Given the description of an element on the screen output the (x, y) to click on. 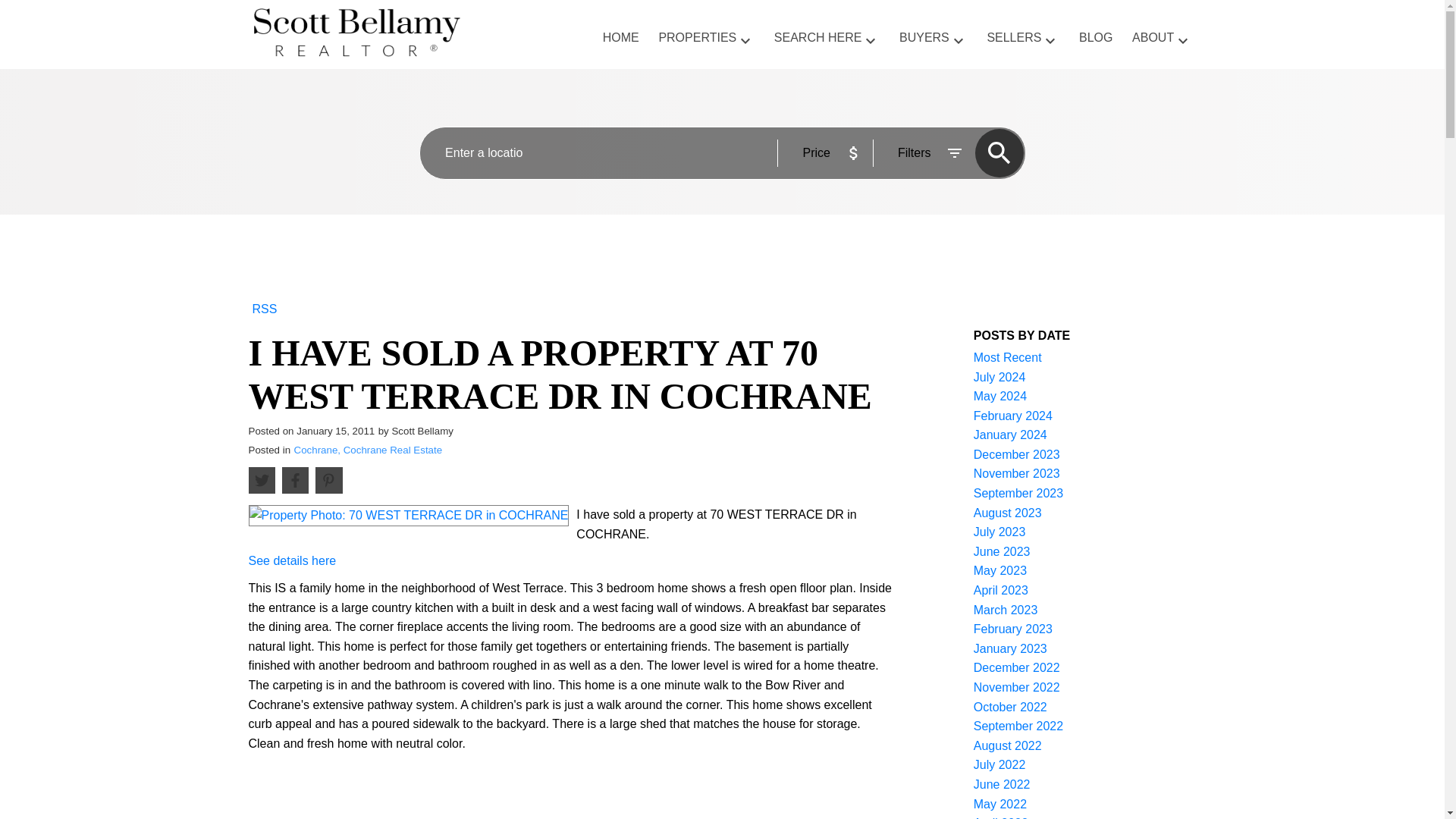
HOME (620, 38)
PROPERTIES (697, 38)
SEARCH HERE (817, 38)
Royal LePage Benchmark (389, 39)
